Given the description of an element on the screen output the (x, y) to click on. 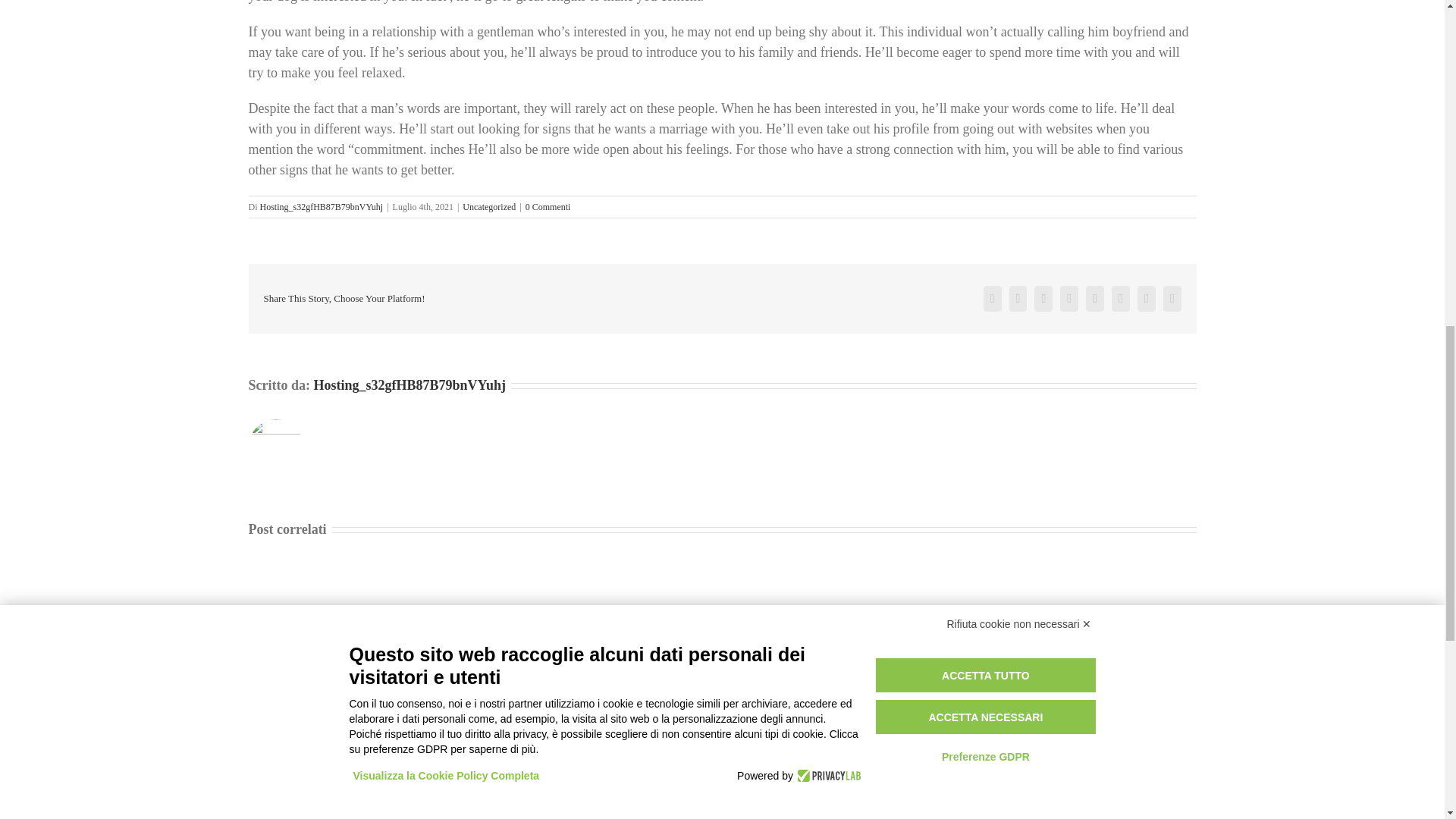
0 Commenti (547, 206)
Uncategorized (489, 206)
